Given the description of an element on the screen output the (x, y) to click on. 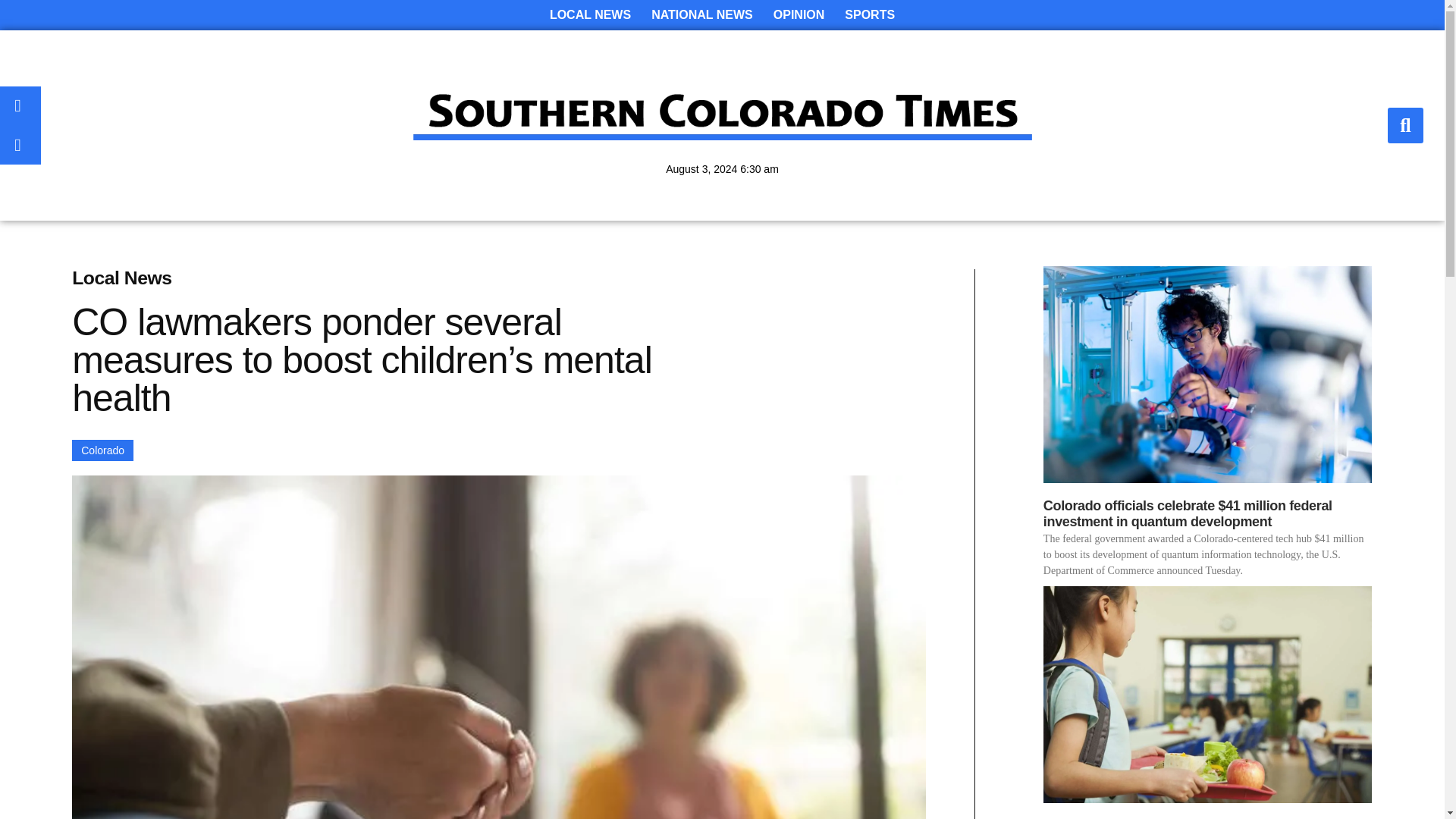
OPINION (798, 15)
Colorado (102, 450)
NATIONAL NEWS (701, 15)
SPORTS (869, 15)
LOCAL NEWS (590, 15)
